Given the description of an element on the screen output the (x, y) to click on. 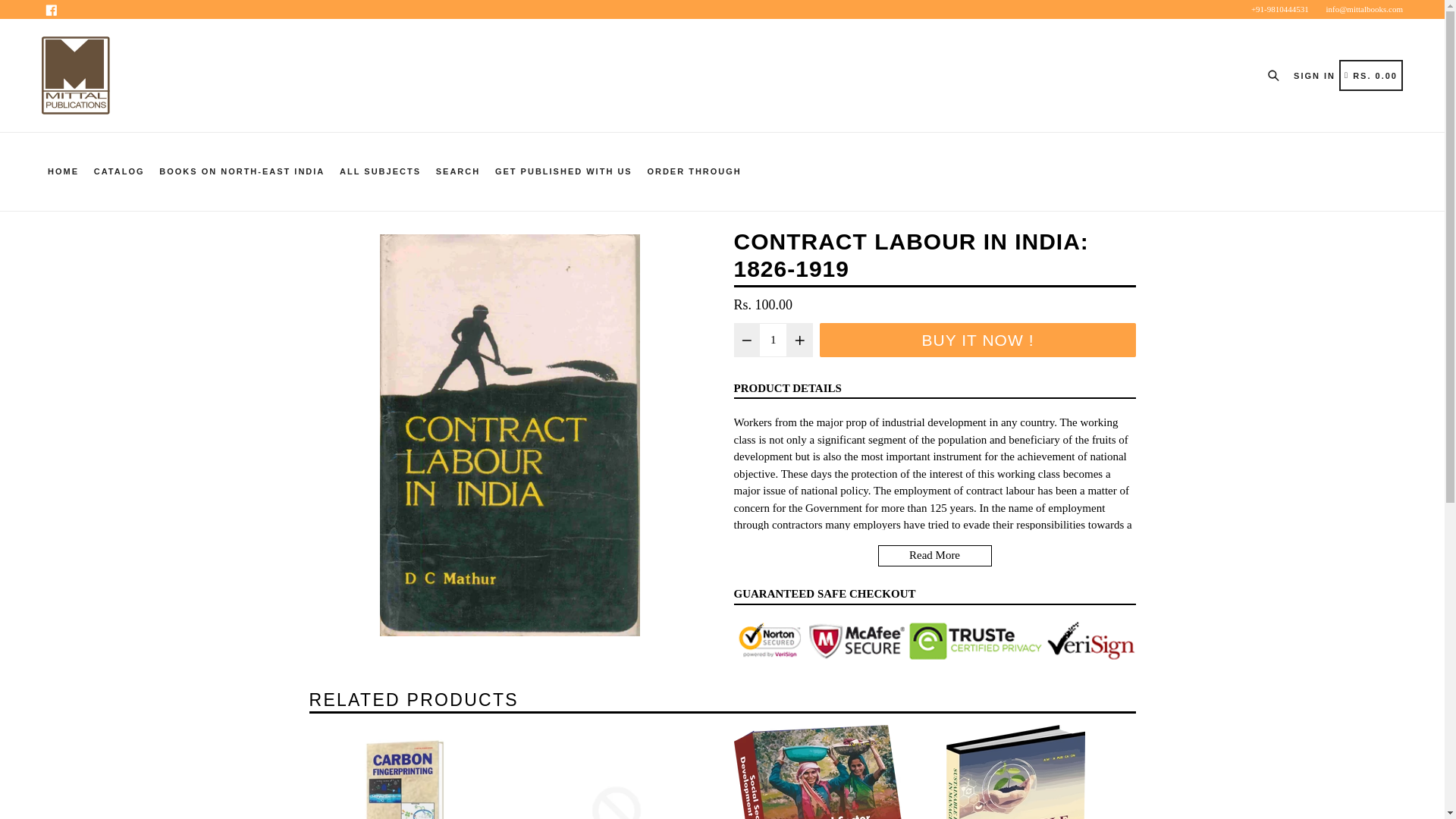
GET PUBLISHED WITH US (564, 171)
ALL SUBJECTS (379, 171)
PRODUCT DETAILS (787, 388)
ORDER THROUGH (693, 171)
Search (1276, 74)
BOOKS ON NORTH-EAST INDIA (241, 171)
Mittal Publications on Facebook (51, 9)
Facebook (51, 9)
BUY IT NOW ! (976, 339)
Read More (934, 555)
SIGN IN (1314, 74)
